Given the description of an element on the screen output the (x, y) to click on. 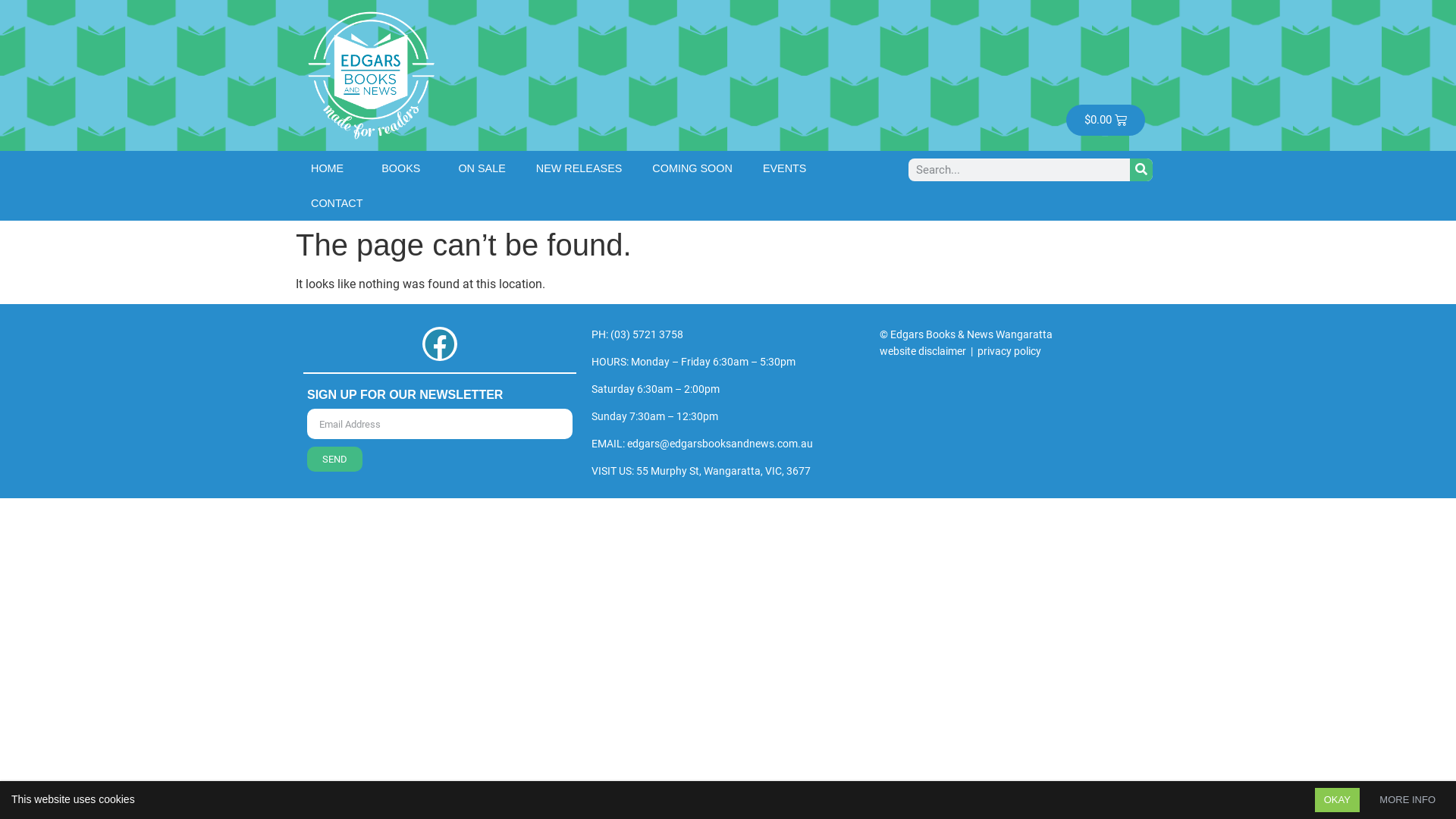
NEW RELEASES Element type: text (578, 167)
HOME Element type: text (330, 167)
ON SALE Element type: text (481, 167)
COMING SOON Element type: text (692, 167)
SEND Element type: text (334, 458)
EVENTS Element type: text (788, 167)
$0.00 Element type: text (1105, 119)
website disclaimer Element type: text (922, 350)
edgars@edgarsbooksandnews.com.au Element type: text (719, 443)
privacy policy Element type: text (1009, 350)
MORE INFO Element type: text (1407, 799)
BOOKS Element type: text (404, 167)
CONTACT Element type: text (336, 202)
